Given the description of an element on the screen output the (x, y) to click on. 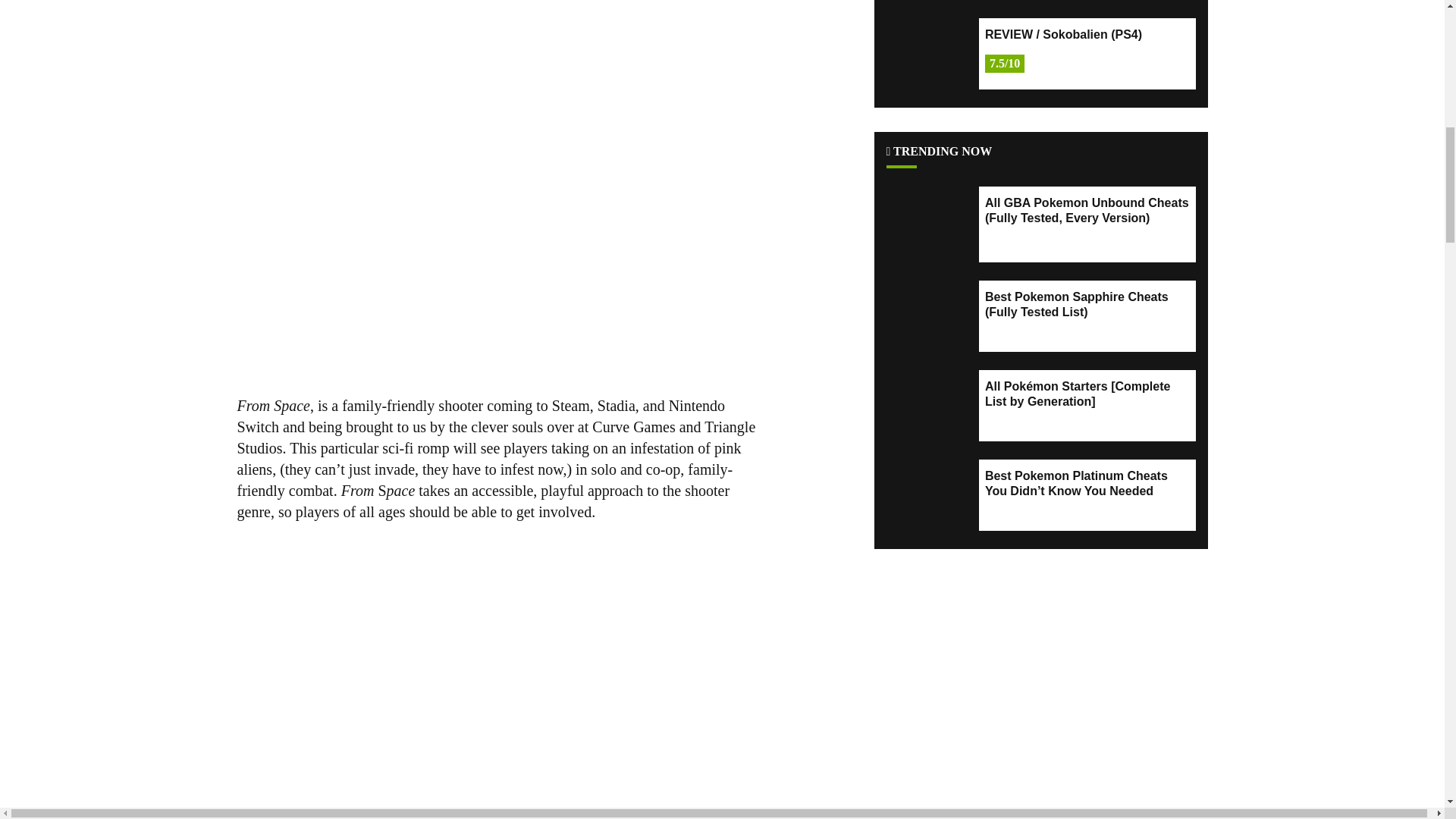
Scroll back to top (1406, 708)
